Given the description of an element on the screen output the (x, y) to click on. 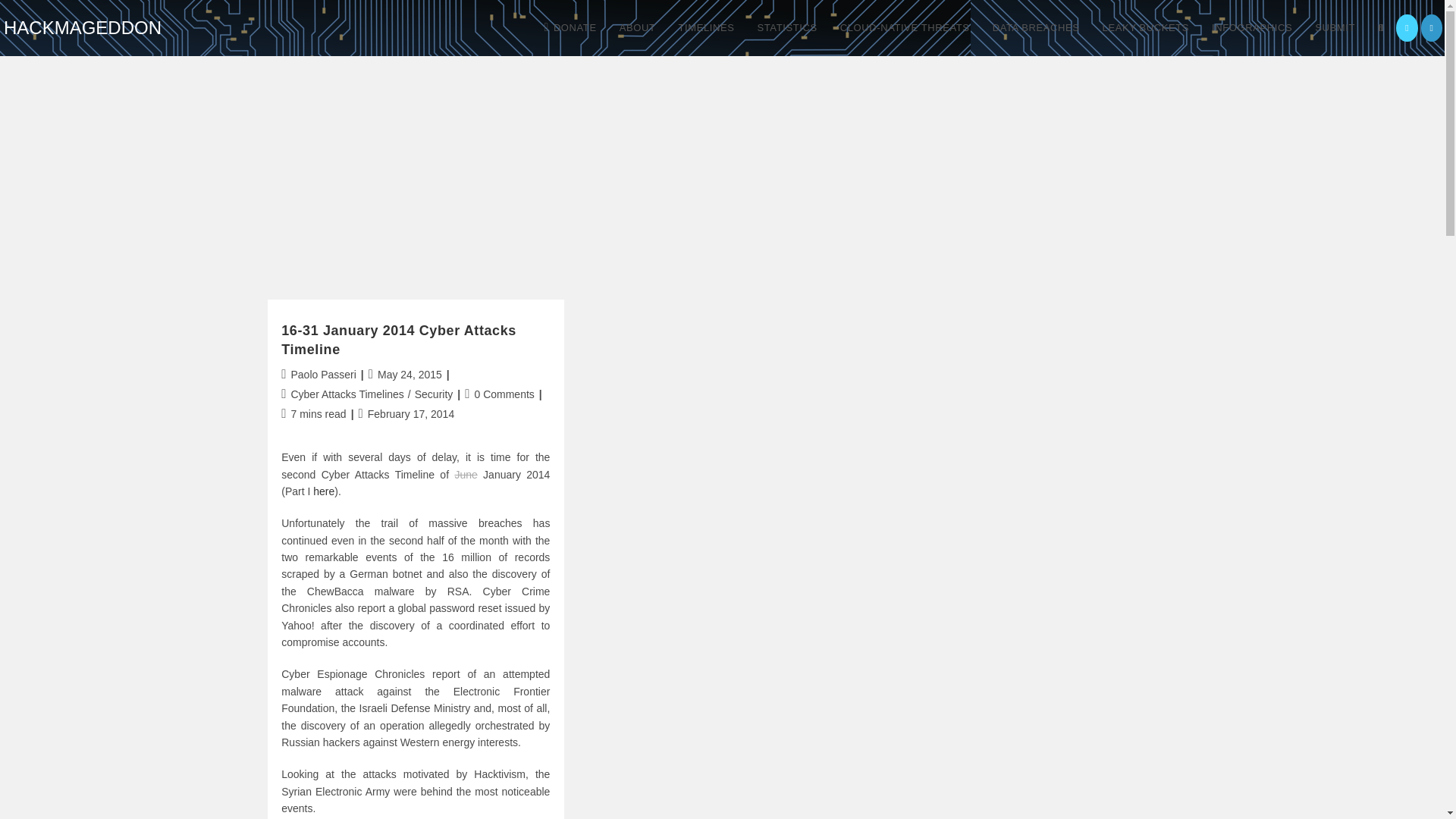
CLOUD-NATIVE THREATS (904, 28)
Security (433, 394)
Paolo Passeri (322, 374)
SUBMIT (1335, 28)
HACKMAGEDDON (82, 27)
LEAKY BUCKETS (1145, 28)
Cyber Attacks Timelines (346, 394)
Posts by Paolo Passeri (322, 374)
TIMELINES (705, 28)
here (323, 491)
